Given the description of an element on the screen output the (x, y) to click on. 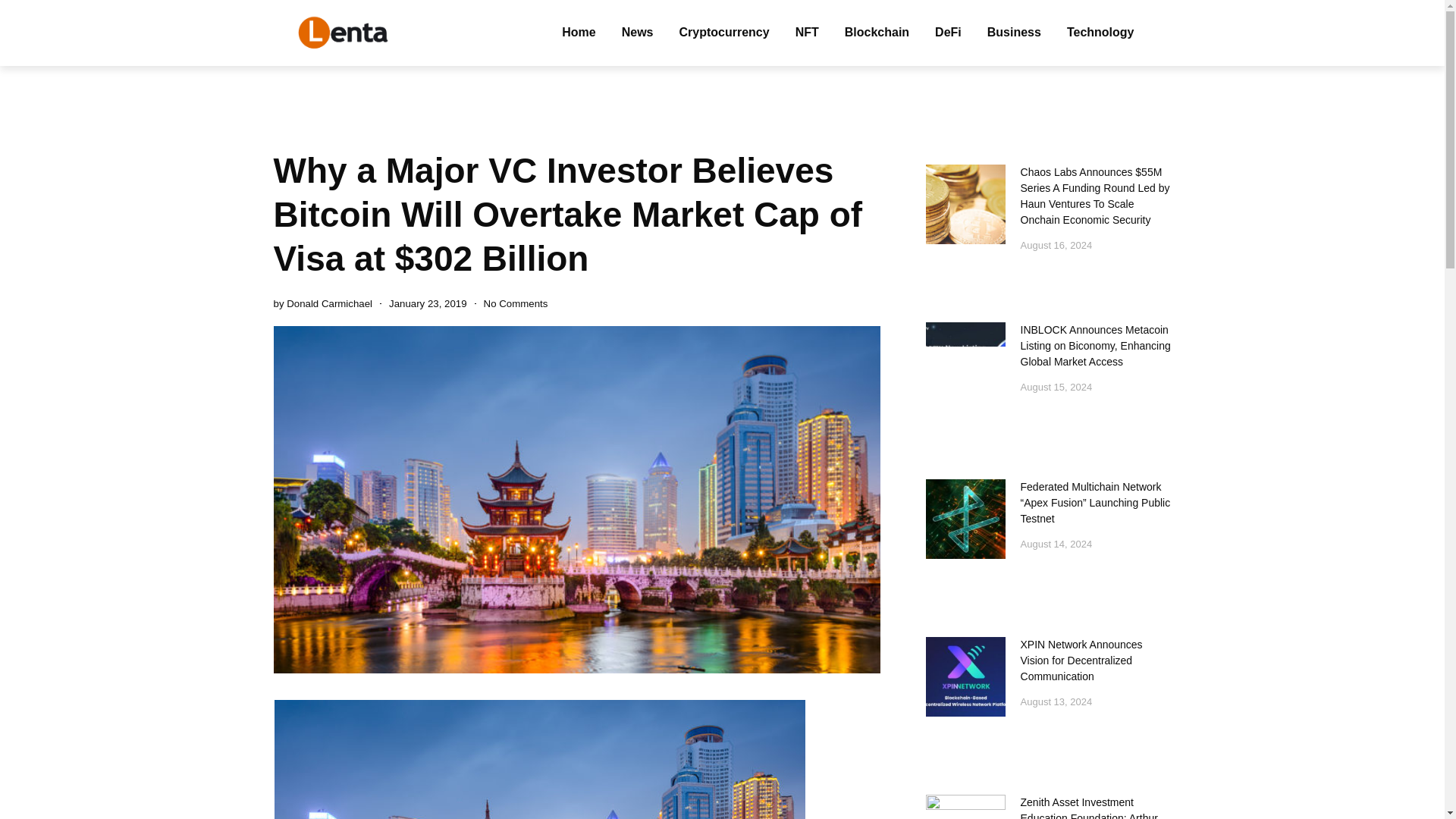
Technology (1100, 32)
lenta.fi (342, 32)
Blockchain (876, 32)
News (637, 32)
Business (1014, 32)
NFT (807, 32)
Cryptocurrency (723, 32)
DeFi (947, 32)
Home (578, 32)
